Given the description of an element on the screen output the (x, y) to click on. 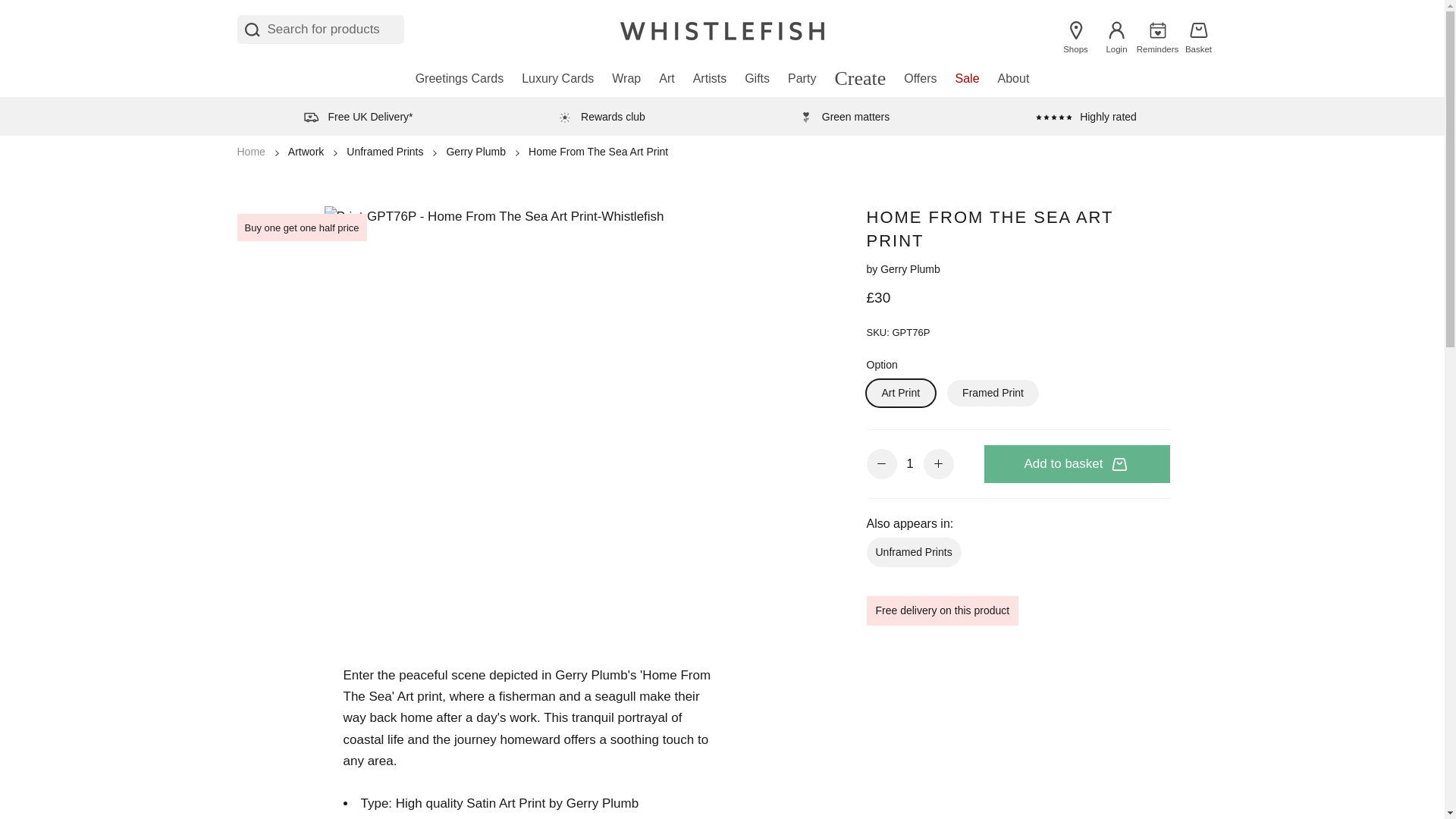
Whistlefish homepage (722, 29)
Delivery information (357, 116)
Green matters (843, 116)
Delivery information (600, 116)
Customer reviews (1086, 116)
1 (909, 463)
